Given the description of an element on the screen output the (x, y) to click on. 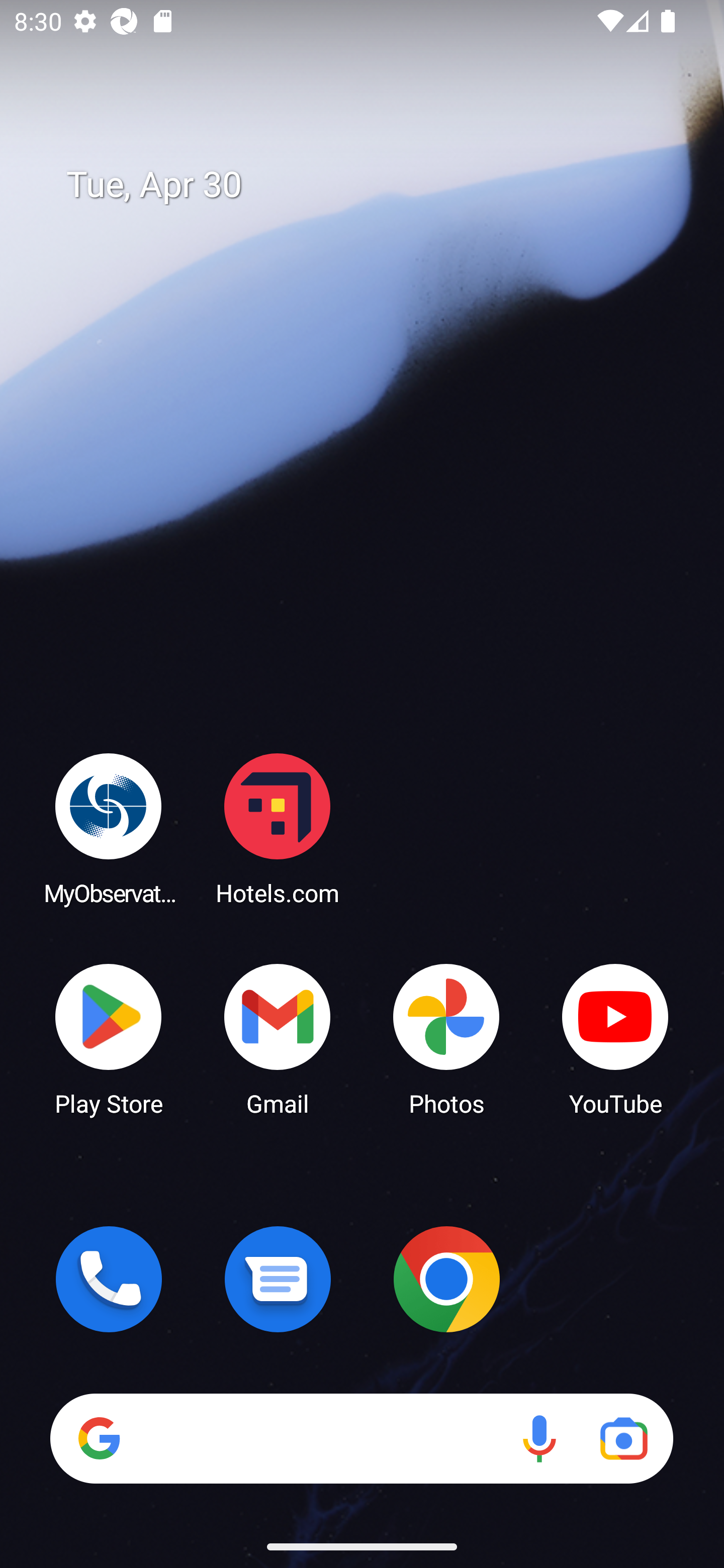
Tue, Apr 30 (375, 184)
MyObservatory (108, 828)
Hotels.com (277, 828)
Play Store (108, 1038)
Gmail (277, 1038)
Photos (445, 1038)
YouTube (615, 1038)
Phone (108, 1279)
Messages (277, 1279)
Chrome (446, 1279)
Voice search (539, 1438)
Google Lens (623, 1438)
